Given the description of an element on the screen output the (x, y) to click on. 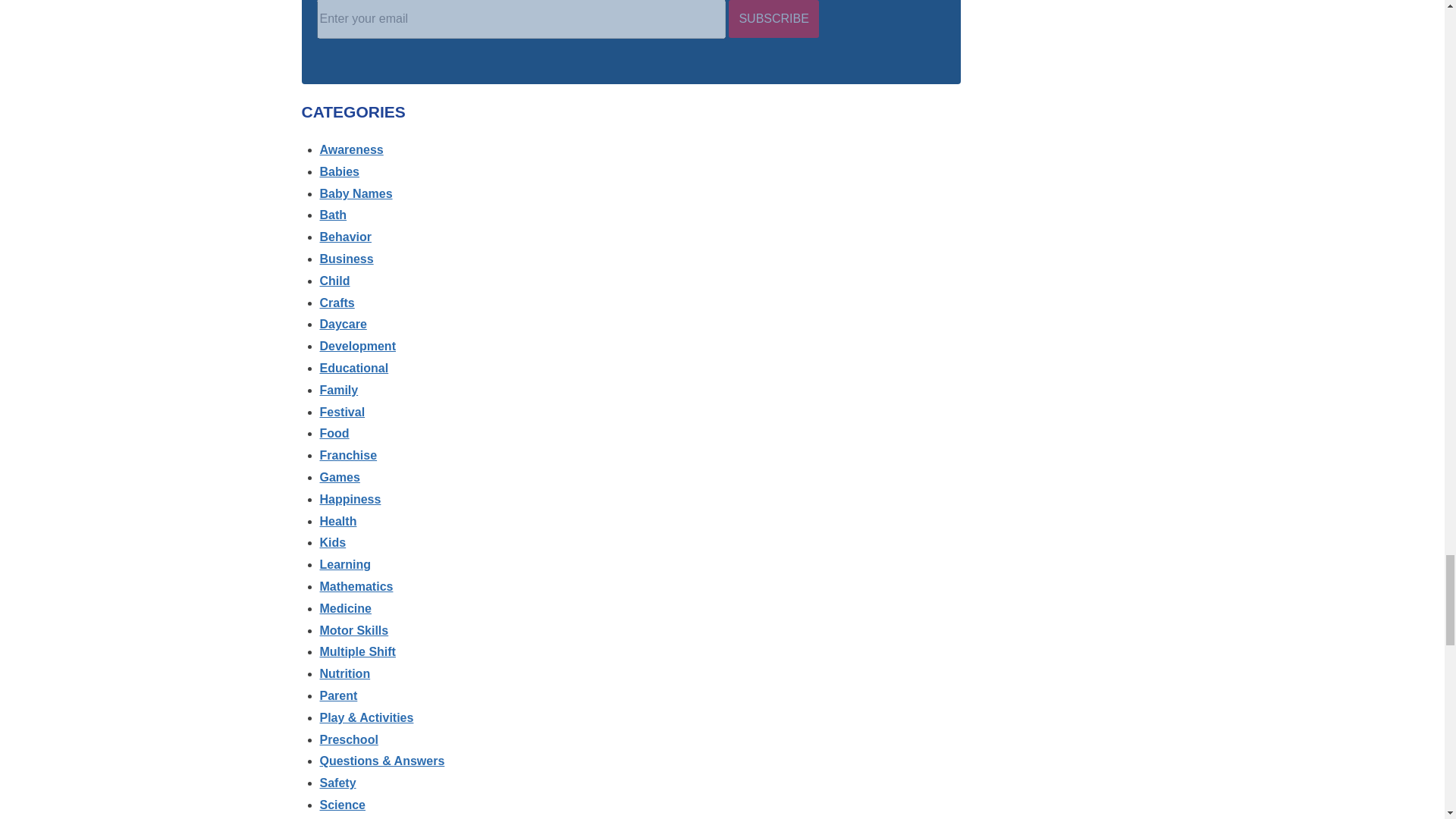
Subscribe (773, 18)
